Given the description of an element on the screen output the (x, y) to click on. 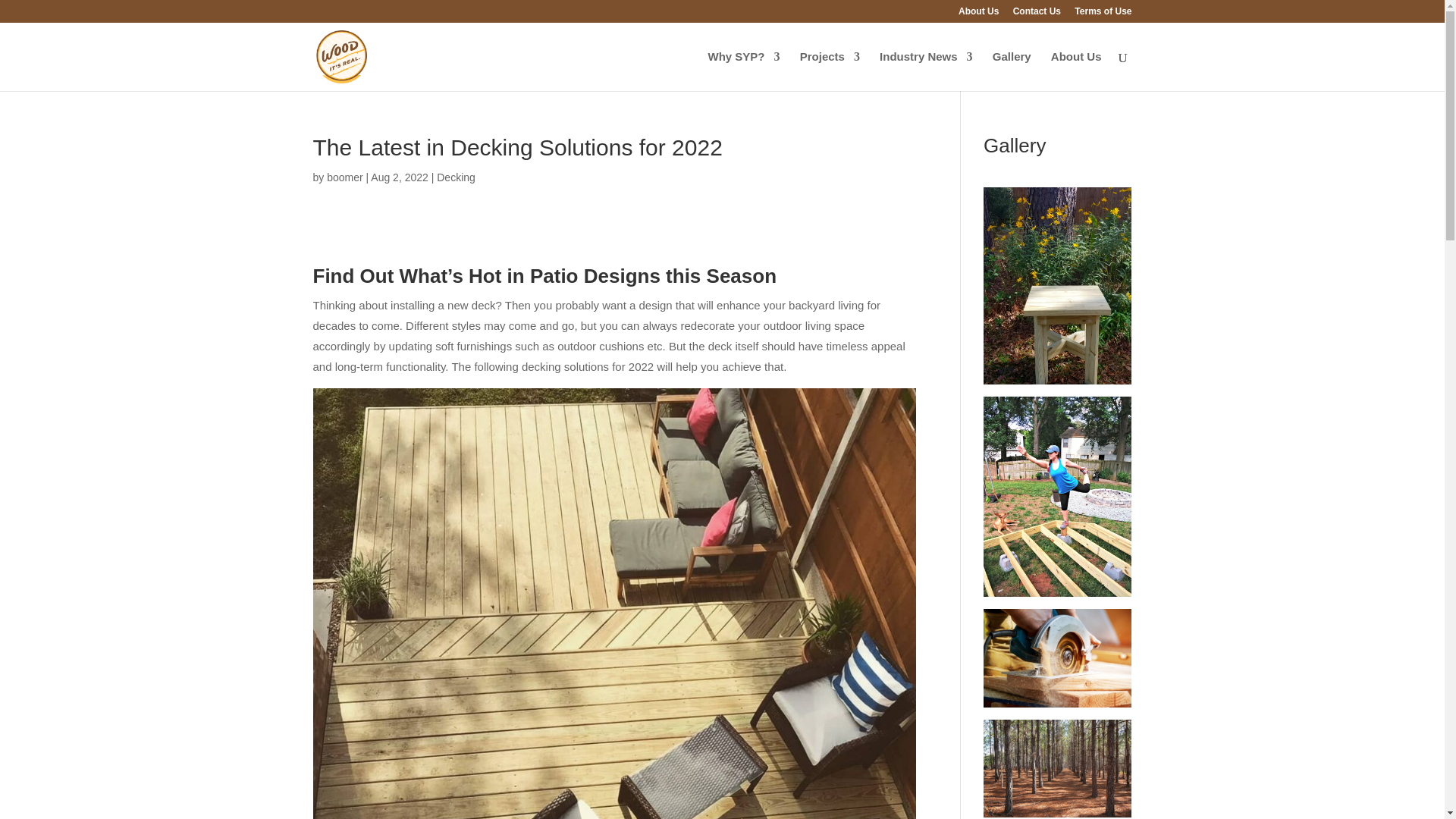
Gallery (1011, 70)
Contact Us (1037, 14)
Projects (829, 70)
Industry News (925, 70)
Why SYP? (743, 70)
About Us (978, 14)
Terms of Use (1102, 14)
About Us (1076, 70)
Posts by boomer (344, 177)
